Given the description of an element on the screen output the (x, y) to click on. 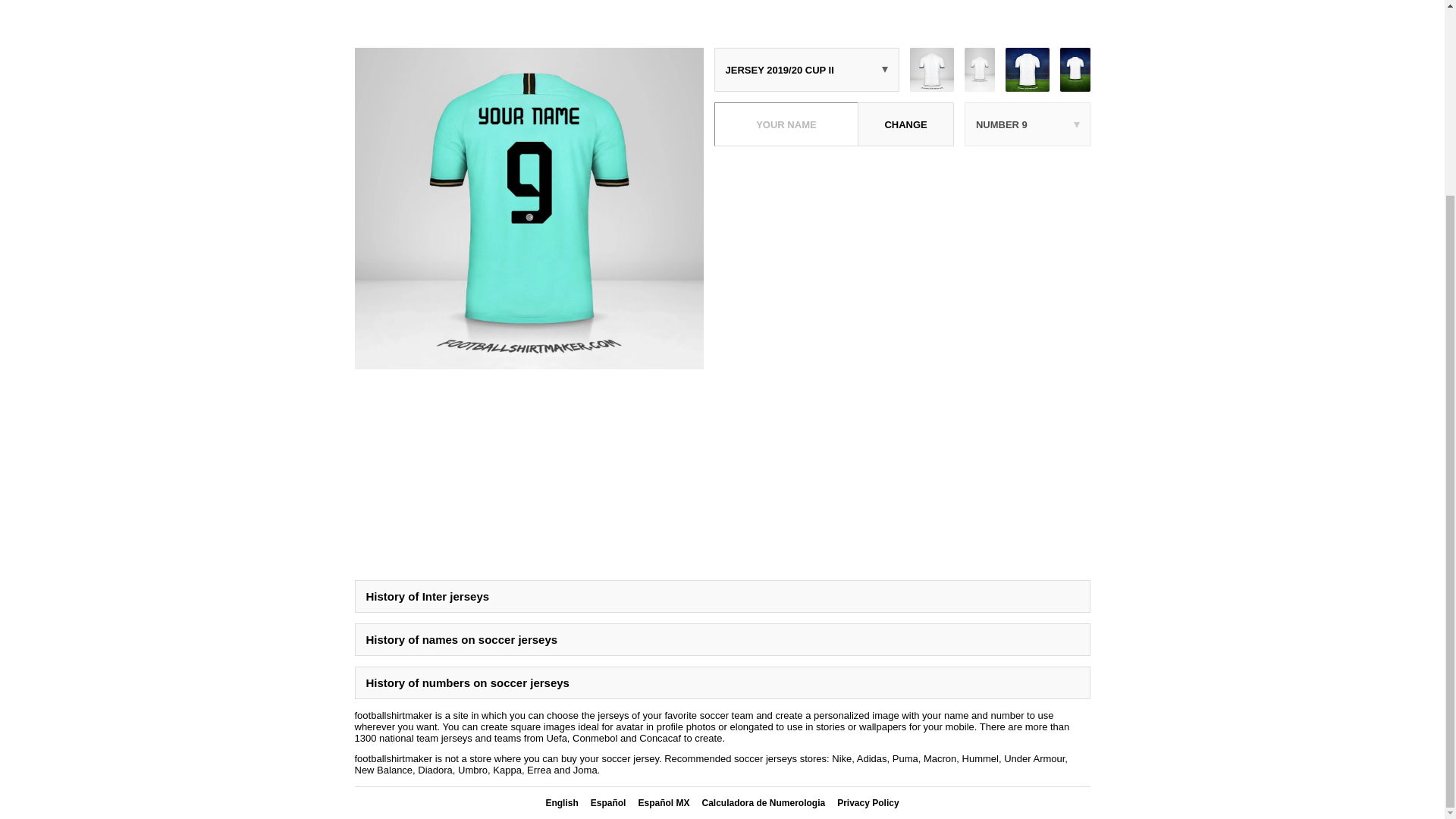
Advertisement (902, 263)
Advertisement (722, 18)
Privacy Policy (867, 802)
CHANGE (905, 124)
History of numbers on soccer jerseys (722, 682)
English (561, 802)
History of Inter jerseys (722, 595)
Calculadora de Numerologia (763, 802)
History of names on soccer jerseys (722, 639)
CHANGE (905, 124)
